Given the description of an element on the screen output the (x, y) to click on. 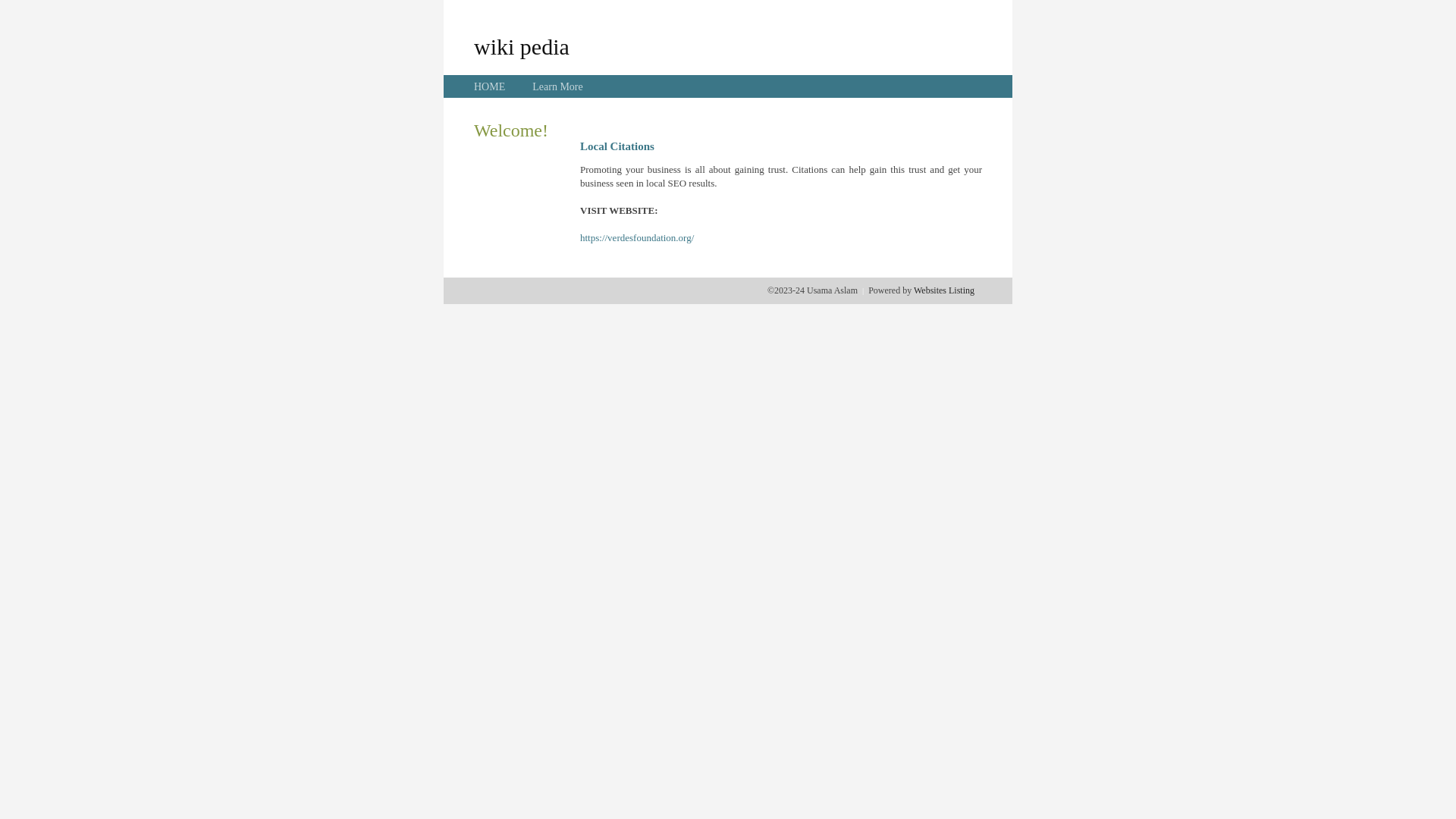
https://verdesfoundation.org/ Element type: text (636, 237)
wiki pedia Element type: text (521, 46)
Websites Listing Element type: text (943, 290)
Learn More Element type: text (557, 86)
HOME Element type: text (489, 86)
